Given the description of an element on the screen output the (x, y) to click on. 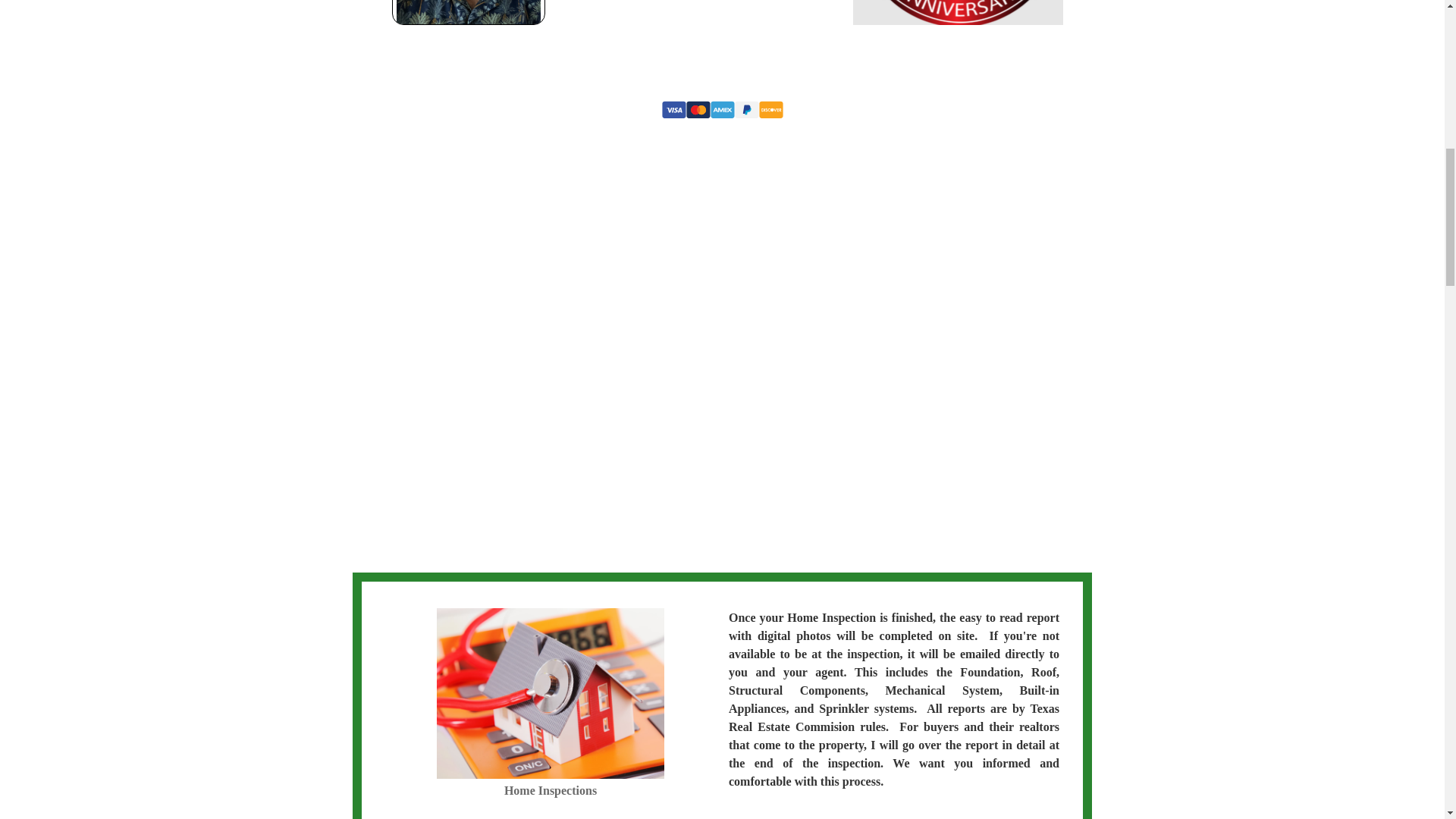
inspection-cost (549, 693)
25th (957, 12)
Ches Head Shot (469, 12)
